Given the description of an element on the screen output the (x, y) to click on. 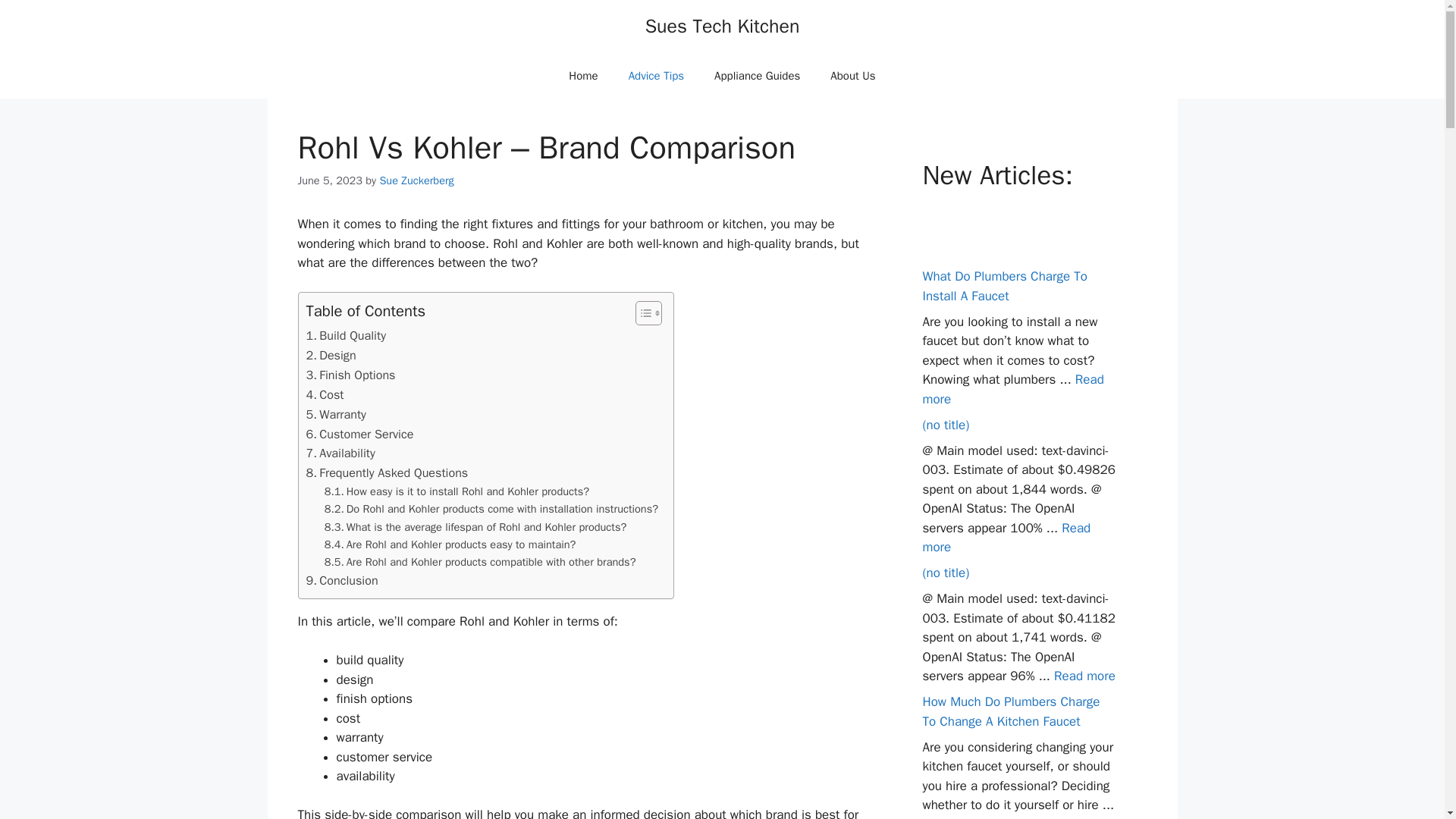
Build Quality (345, 335)
Read more (1084, 675)
Warranty (335, 414)
Advice Tips (655, 75)
Cost (324, 394)
Customer Service (359, 434)
Finish Options (350, 374)
Availability (340, 453)
View all posts by Sue Zuckerberg (415, 180)
How easy is it to install Rohl and Kohler products? (456, 491)
How Much Do Plumbers Charge To Change A Kitchen Faucet (1010, 711)
How easy is it to install Rohl and Kohler products? (456, 491)
What is the average lifespan of Rohl and Kohler products? (475, 527)
Appliance Guides (756, 75)
